Given the description of an element on the screen output the (x, y) to click on. 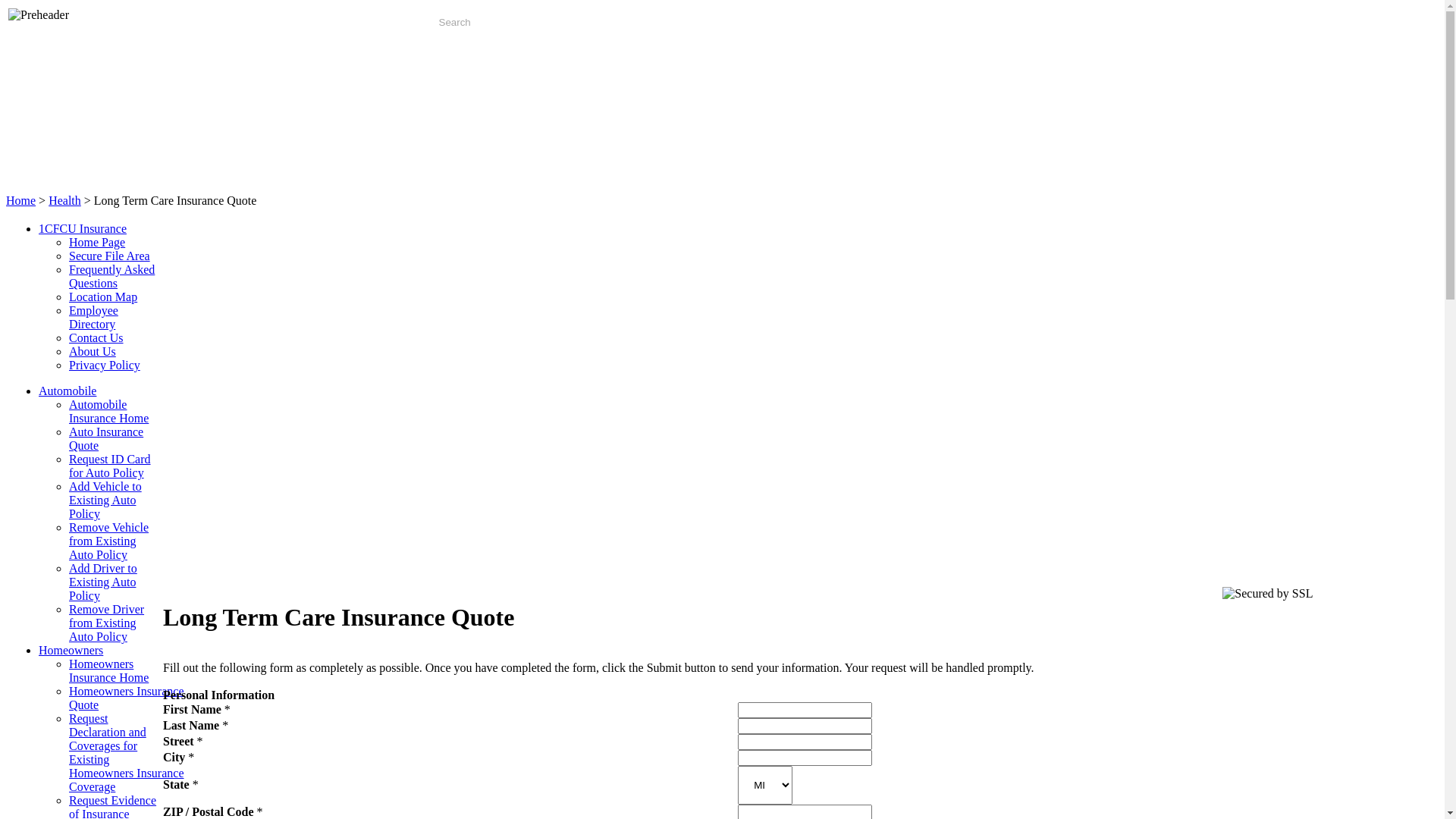
Frequently Asked Questions Element type: text (111, 276)
Auto Insurance Quote Element type: text (106, 438)
Privacy Policy Element type: text (104, 364)
Request ID Card for Auto Policy Element type: text (109, 465)
Automobile Insurance Home Element type: text (108, 411)
Home Page Element type: text (97, 241)
Homeowners Element type: text (70, 649)
Automobile Element type: text (67, 390)
Add Driver to Existing Auto Policy Element type: text (103, 581)
Secure File Area Element type: text (109, 255)
Add Vehicle to Existing Auto Policy Element type: text (105, 500)
Contact Us Element type: text (96, 337)
1CFCU Insurance Element type: text (82, 228)
Homeowners Insurance Home Element type: text (108, 670)
Health Element type: text (64, 200)
Employee Directory Element type: text (93, 317)
Remove Driver from Existing Auto Policy Element type: text (106, 622)
Home Element type: text (20, 200)
Homeowners Insurance Quote Element type: text (126, 697)
Location Map Element type: text (103, 296)
Remove Vehicle from Existing Auto Policy Element type: text (108, 540)
About Us Element type: text (92, 351)
